Given the description of an element on the screen output the (x, y) to click on. 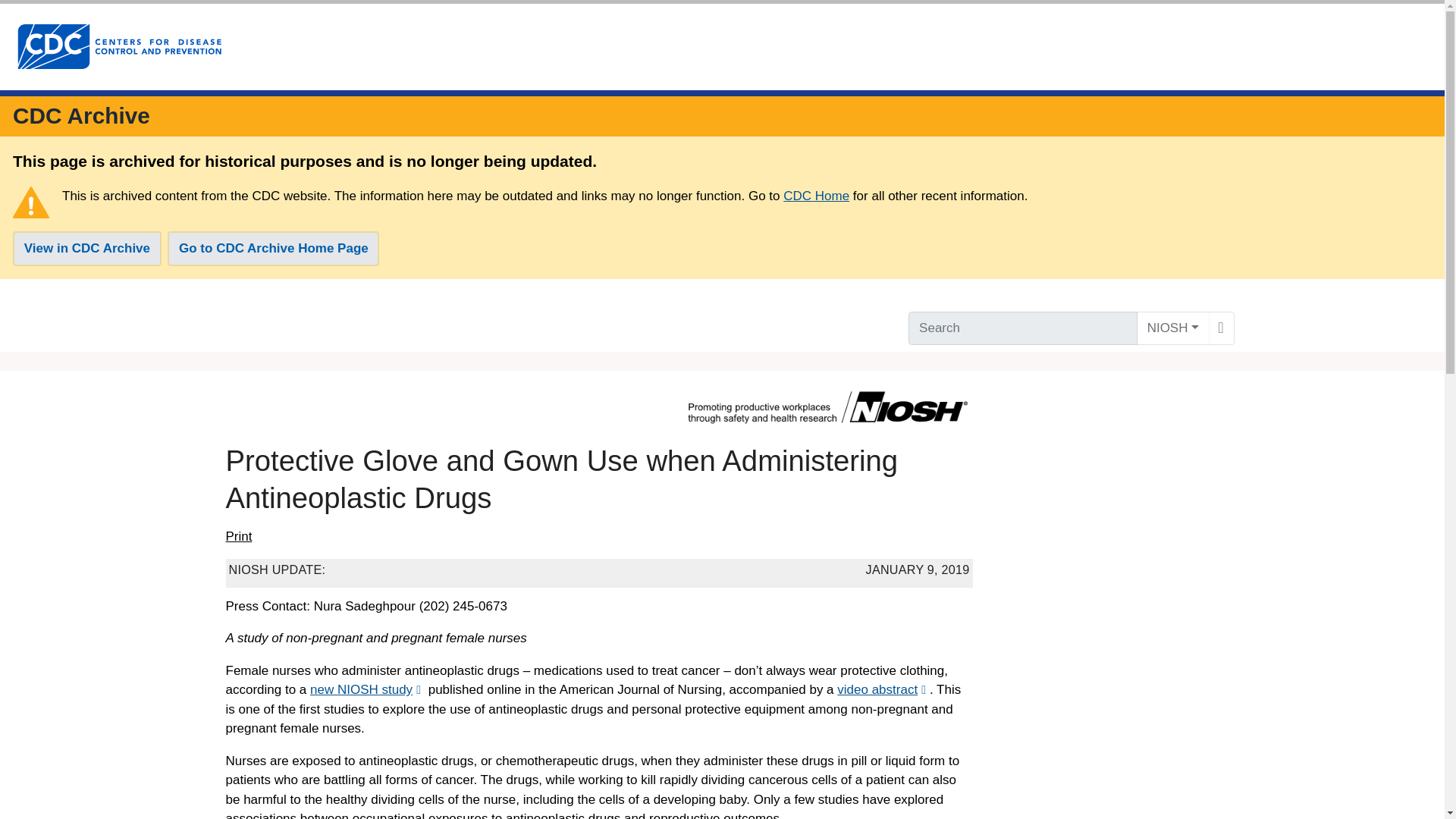
video abstract (883, 689)
Go to CDC Archive Home Page (272, 248)
NIOSH (1173, 328)
CDC Home (815, 196)
Print (238, 537)
CDC Archive Home (81, 115)
CDC Archive (81, 115)
new NIOSH study (367, 689)
View in CDC Archive (87, 248)
